Given the description of an element on the screen output the (x, y) to click on. 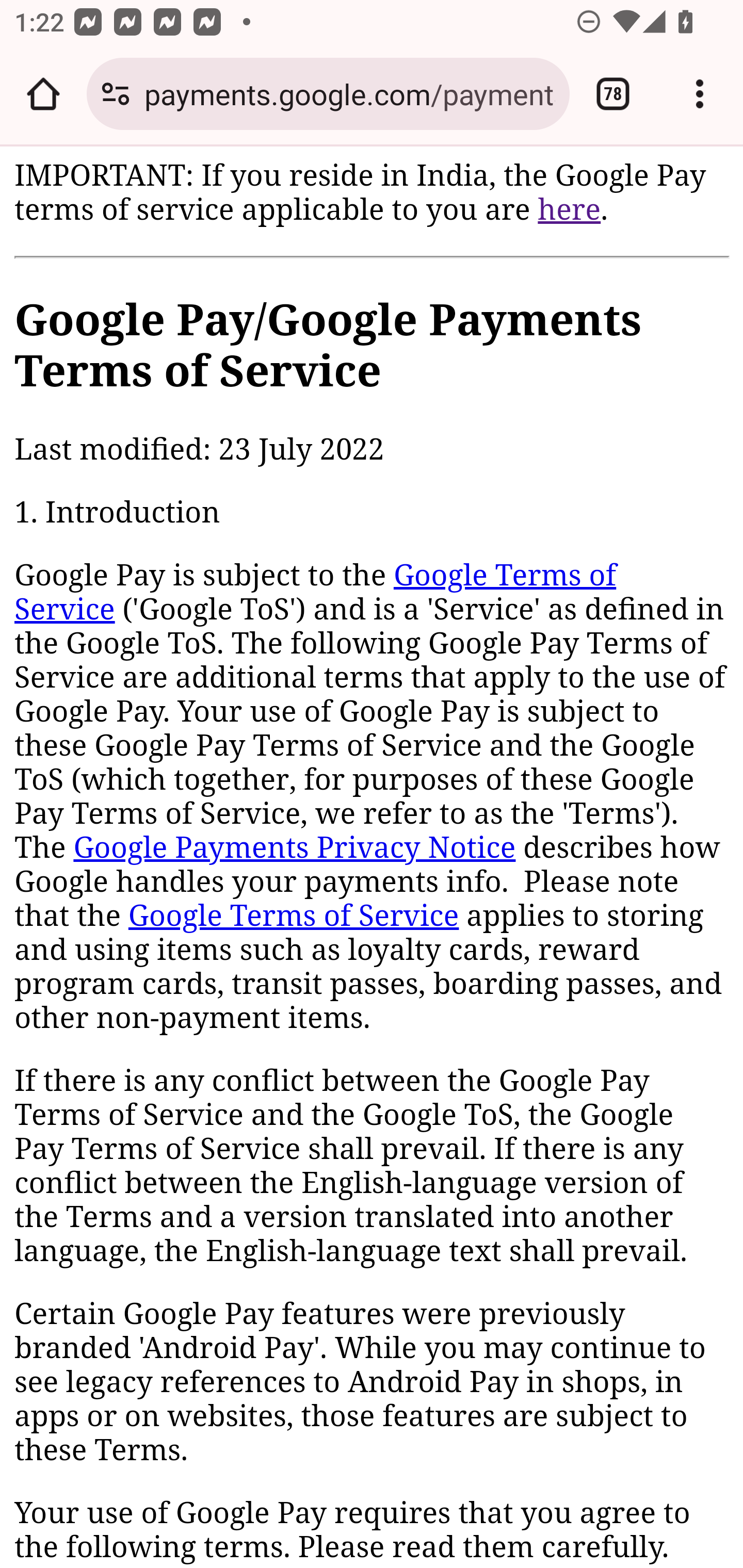
Open the home page (43, 93)
Connection is secure (115, 93)
Switch or close tabs (612, 93)
Customize and control Google Chrome (699, 93)
here (568, 209)
Google Terms of Service (315, 593)
Google Payments Privacy Notice (294, 849)
Google Terms of Service (292, 916)
